Given the description of an element on the screen output the (x, y) to click on. 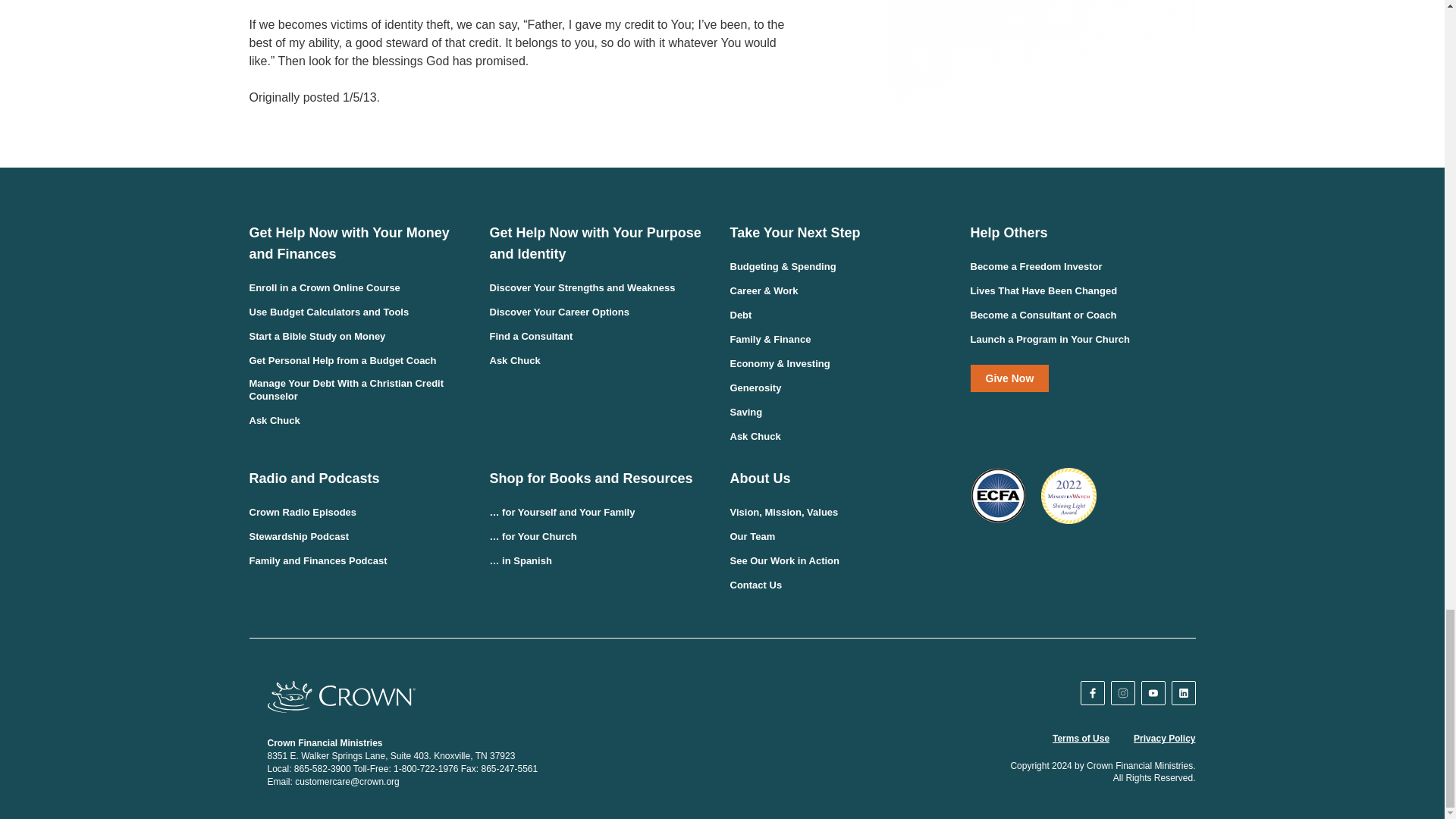
Icon Linkedin (1183, 692)
Crown Logo 2021 H White 2023 (340, 695)
Ecfa Logo (998, 495)
Icon Instagram (1123, 692)
Icon Youtube (1153, 692)
Icon Facebook F (1092, 692)
Ministry Watch Shining Award 2022 (1068, 495)
